Given the description of an element on the screen output the (x, y) to click on. 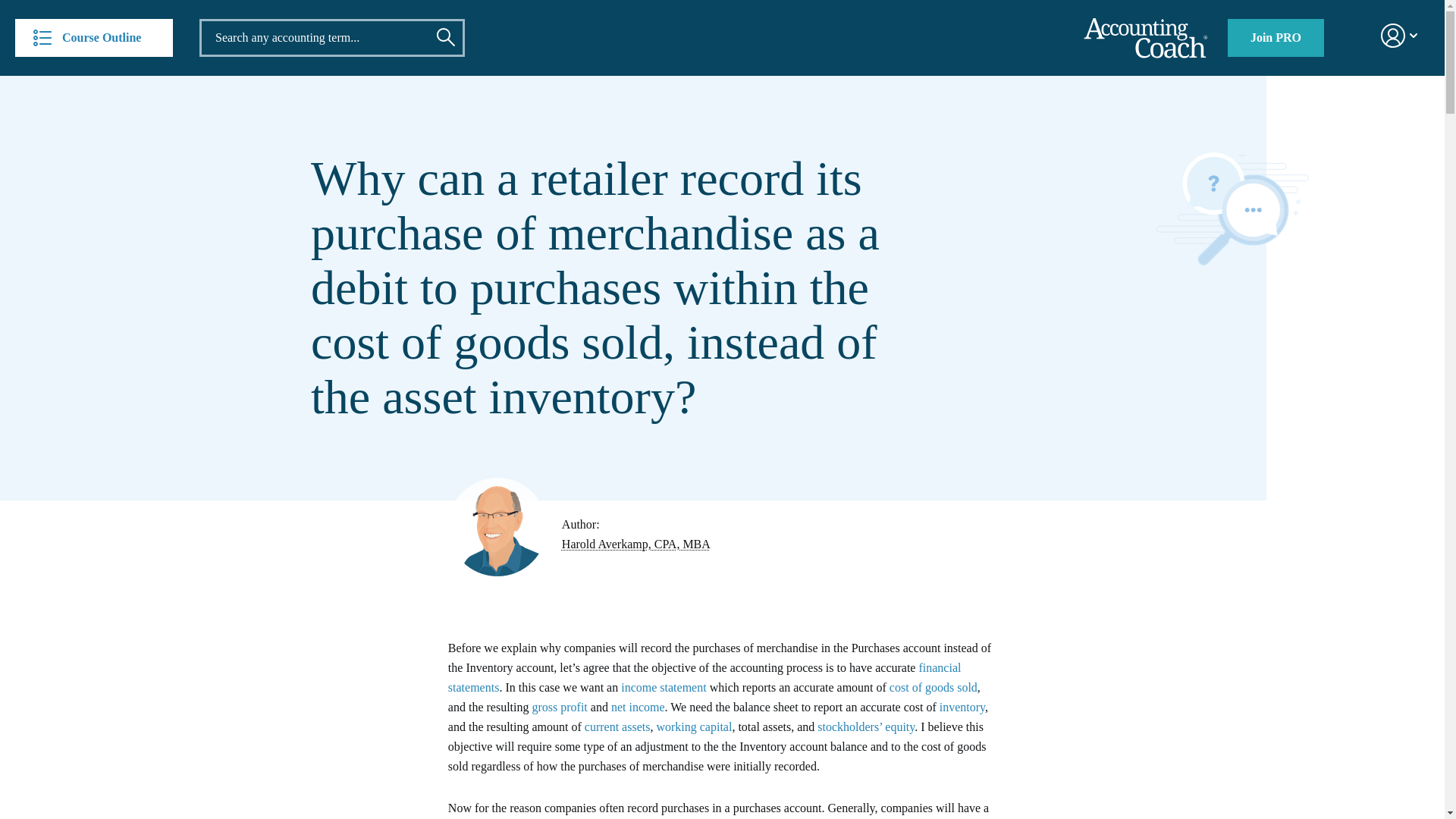
Course Outline (93, 37)
AccountingCoach (1145, 38)
Course Outline (93, 37)
inventory (962, 707)
What is the cost of goods sold? (932, 686)
Member Menu (1390, 35)
What is the income statement? (663, 686)
current assets (617, 726)
net income (638, 707)
What is gross profit? (558, 707)
gross profit (558, 707)
Join PRO (1275, 37)
What is a financial statement? (704, 676)
financial statements (704, 676)
income statement (663, 686)
